Given the description of an element on the screen output the (x, y) to click on. 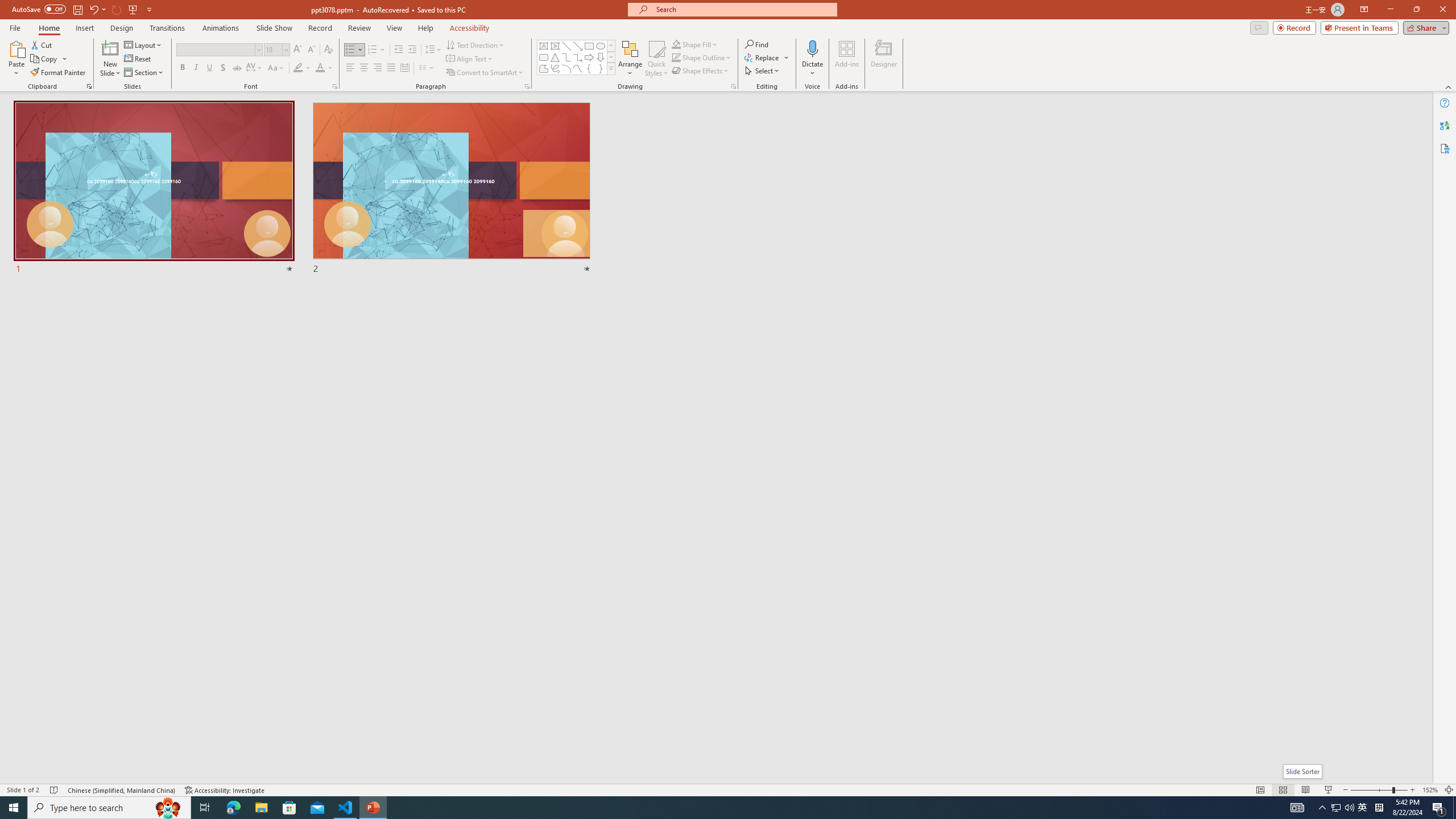
Shape Effects (700, 69)
